Given the description of an element on the screen output the (x, y) to click on. 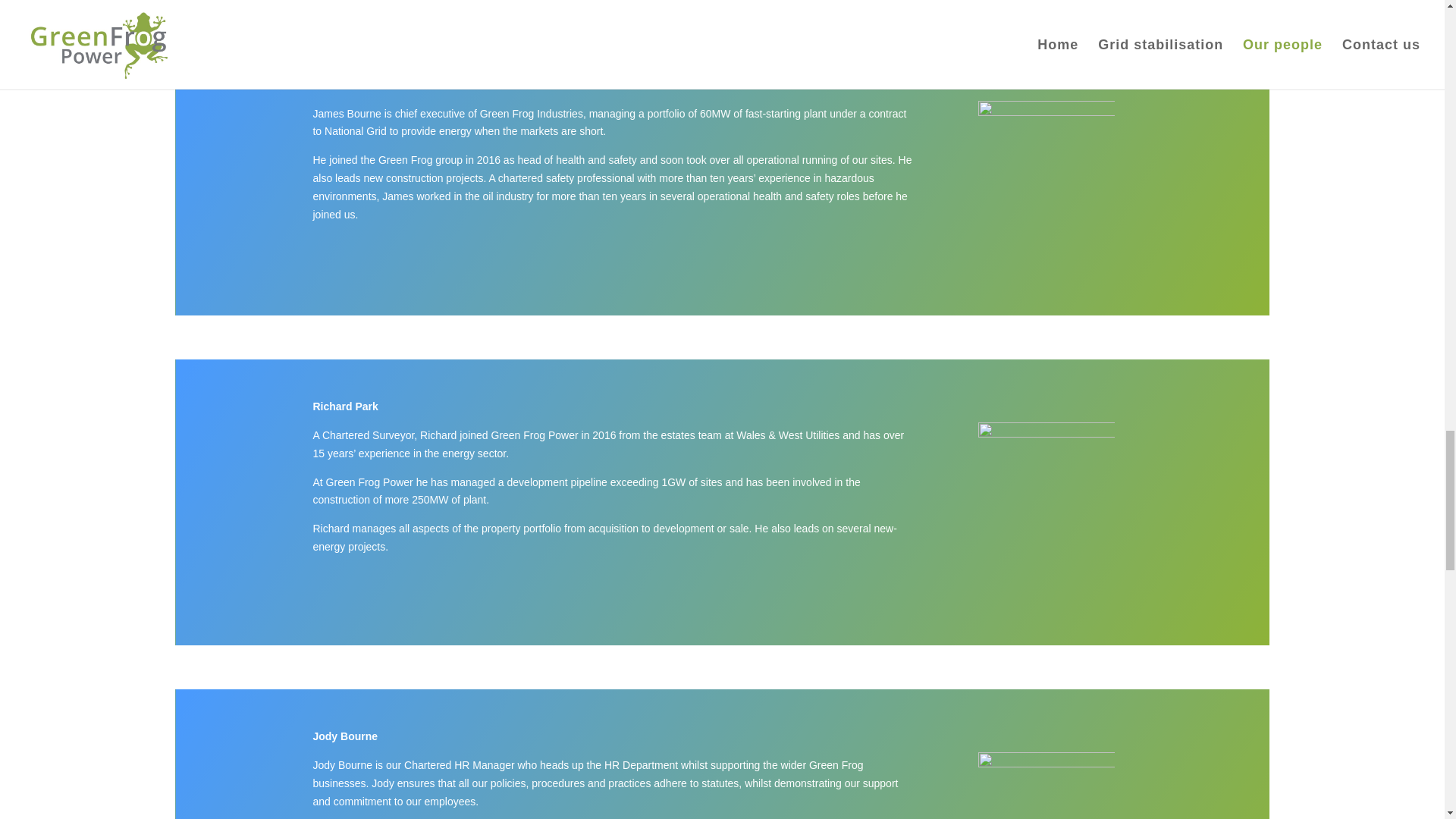
Jody Bourne (1046, 785)
